Given the description of an element on the screen output the (x, y) to click on. 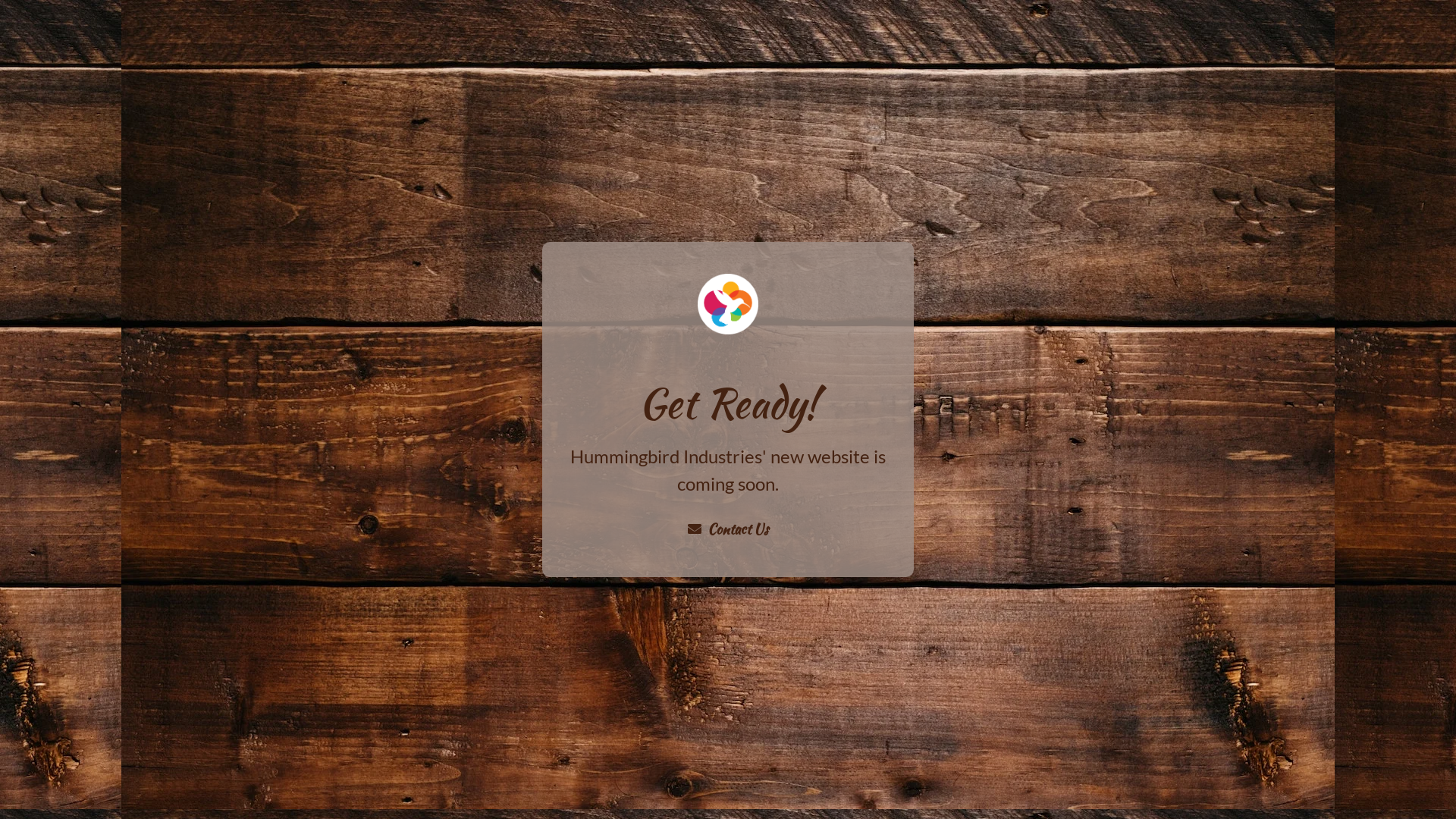
Contact Us Element type: text (727, 528)
